Given the description of an element on the screen output the (x, y) to click on. 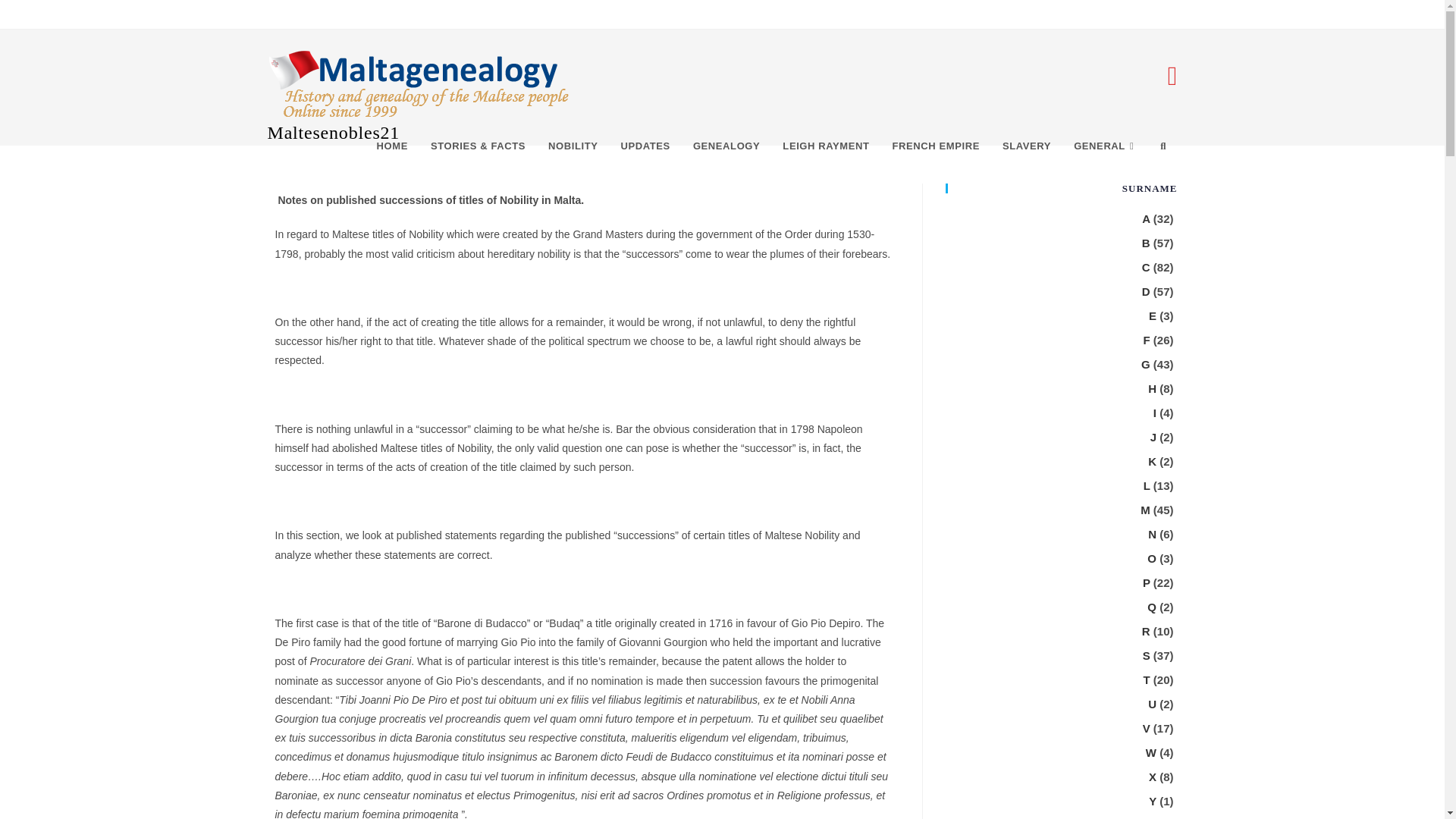
HOME (392, 145)
SLAVERY (1026, 145)
UPDATES (645, 145)
GENEALOGY (726, 145)
NOBILITY (572, 145)
FRENCH EMPIRE (935, 145)
GENERAL (1105, 145)
LEIGH RAYMENT (825, 145)
